Given the description of an element on the screen output the (x, y) to click on. 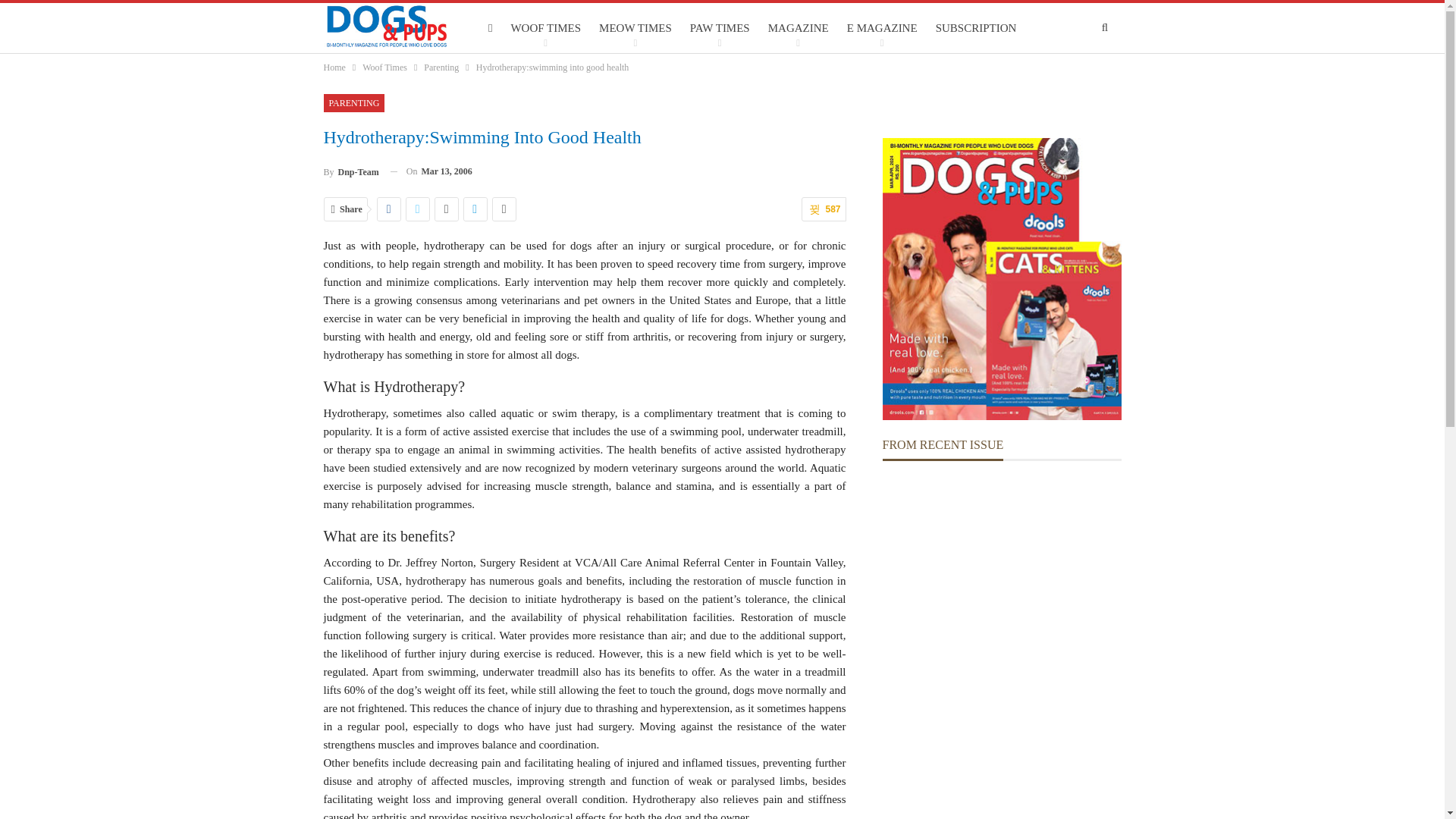
Home (334, 67)
Parenting (440, 67)
E MAGAZINE (882, 28)
SUBSCRIPTION (976, 28)
By Dnp-Team (350, 171)
MEOW TIMES (635, 28)
Woof Times (384, 67)
WOOF TIMES (545, 28)
PARENTING (353, 103)
PAW TIMES (719, 28)
